Given the description of an element on the screen output the (x, y) to click on. 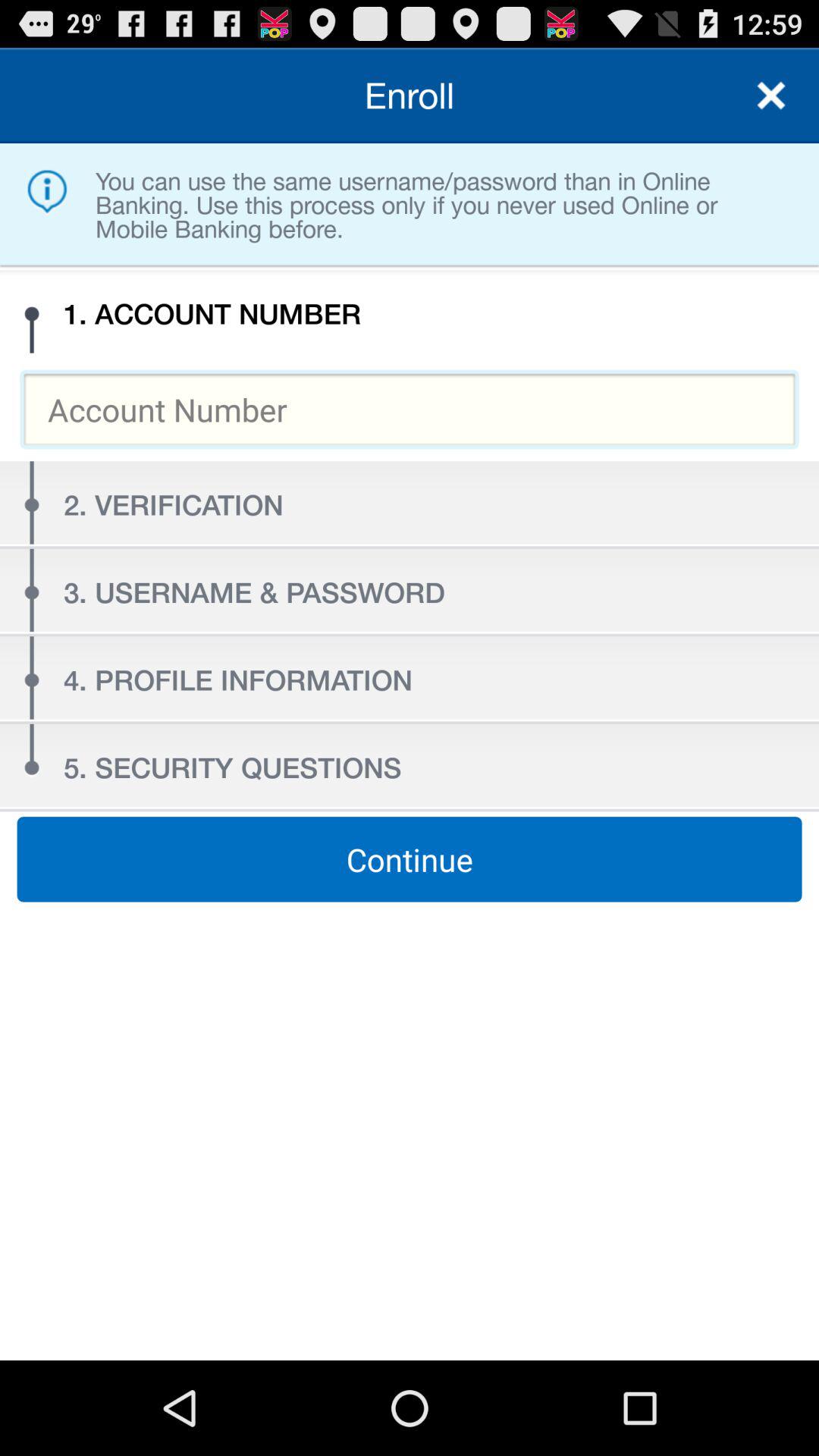
enter bank account number (409, 409)
